Given the description of an element on the screen output the (x, y) to click on. 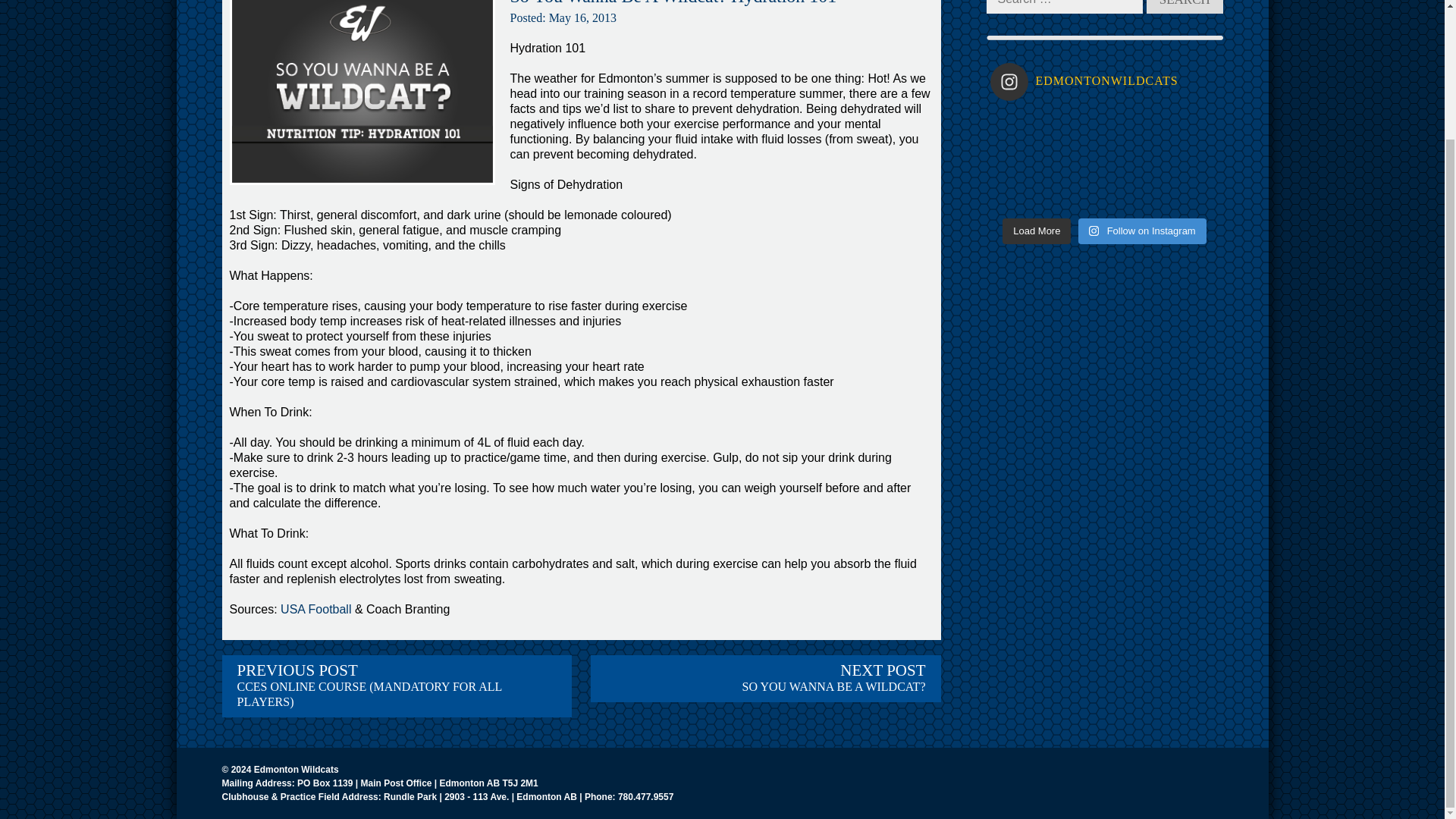
Posted: May 16, 2013 (562, 17)
USA Football (315, 608)
EDMONTONWILDCATS (1105, 81)
Search (1185, 6)
Search (1185, 6)
Search (765, 678)
USA Football (1185, 6)
